Given the description of an element on the screen output the (x, y) to click on. 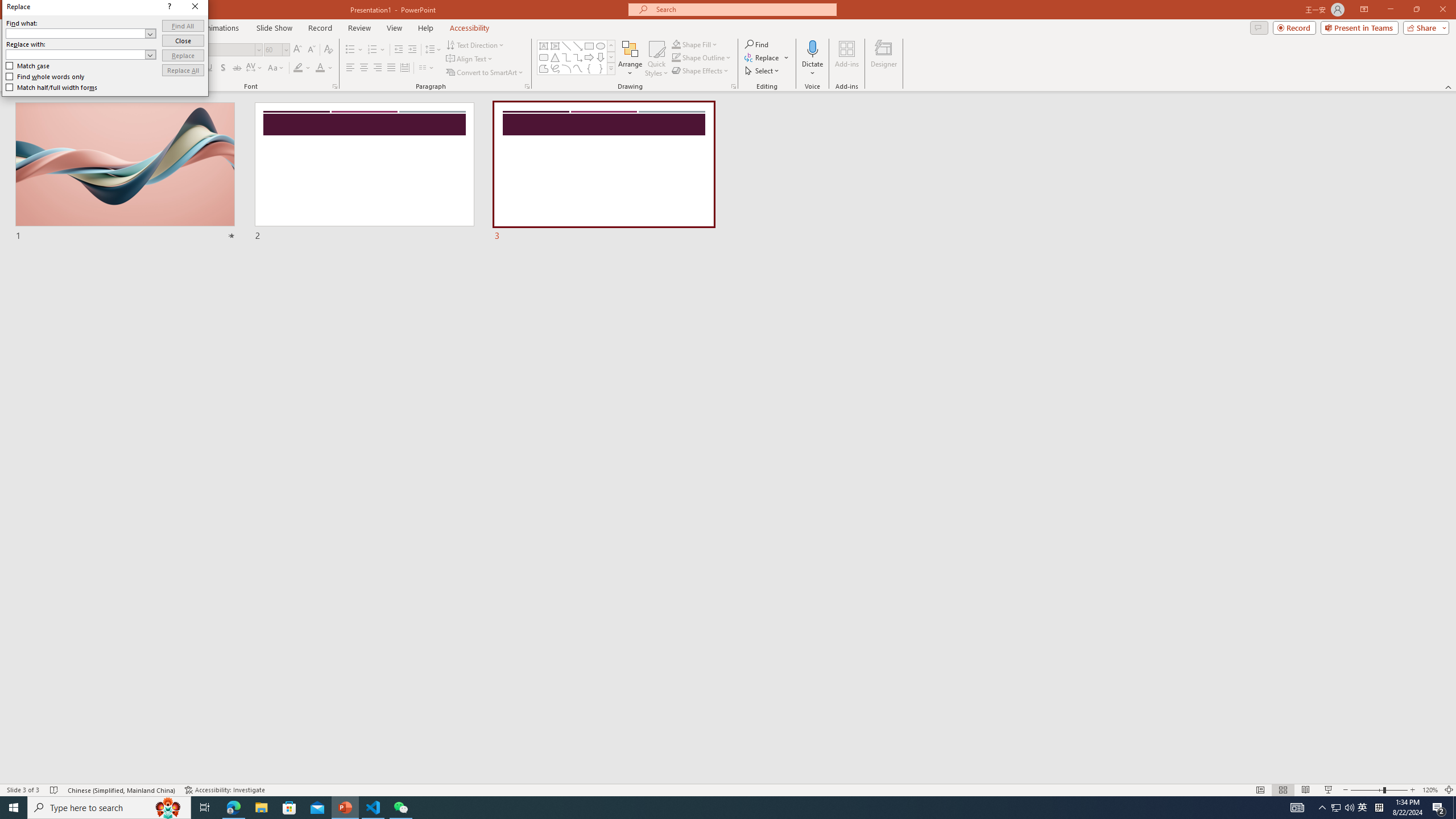
Change Case (276, 67)
Align Left (349, 67)
Curve (577, 68)
Shadow (223, 67)
AutomationID: 4105 (1297, 807)
Visual Studio Code - 1 running window (373, 807)
